Given the description of an element on the screen output the (x, y) to click on. 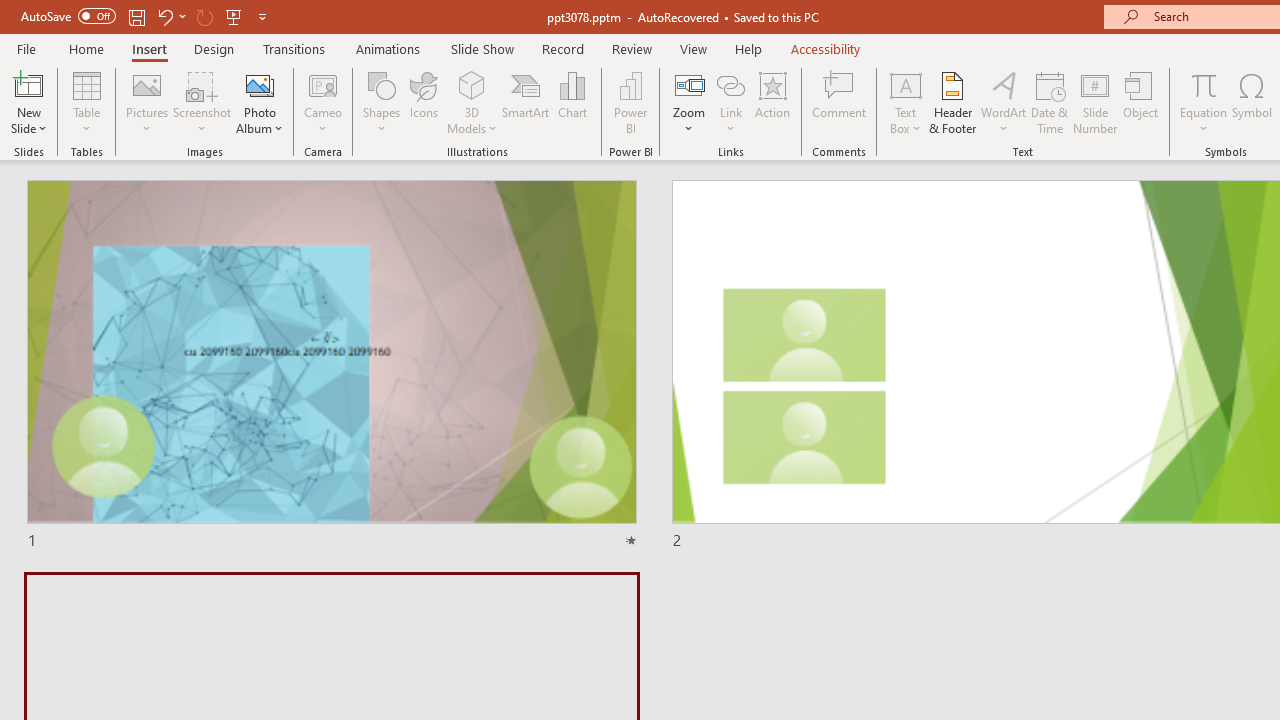
Action (772, 102)
Icons (424, 102)
3D Models (472, 84)
Power BI (630, 102)
